Given the description of an element on the screen output the (x, y) to click on. 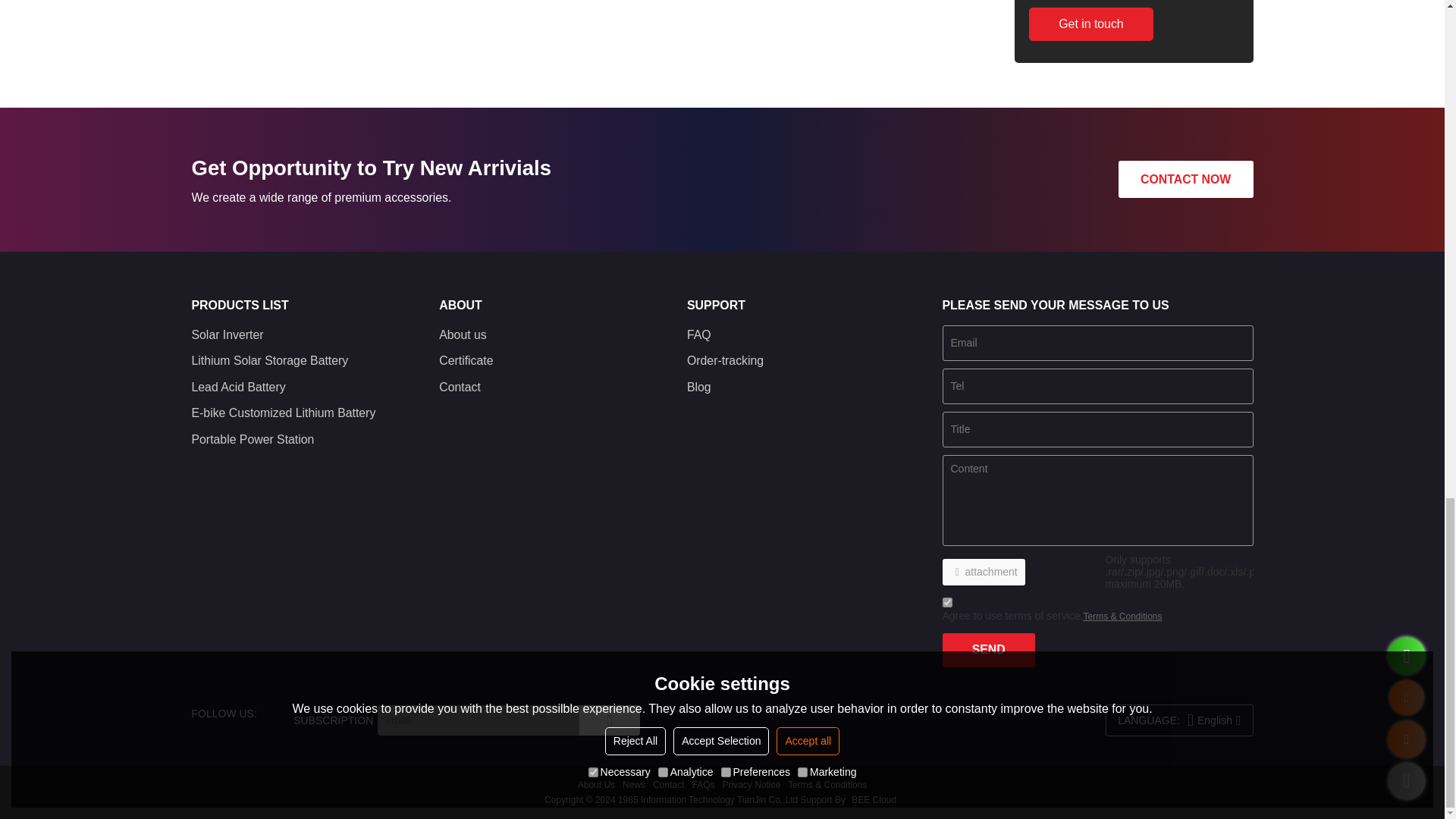
on (947, 602)
